Given the description of an element on the screen output the (x, y) to click on. 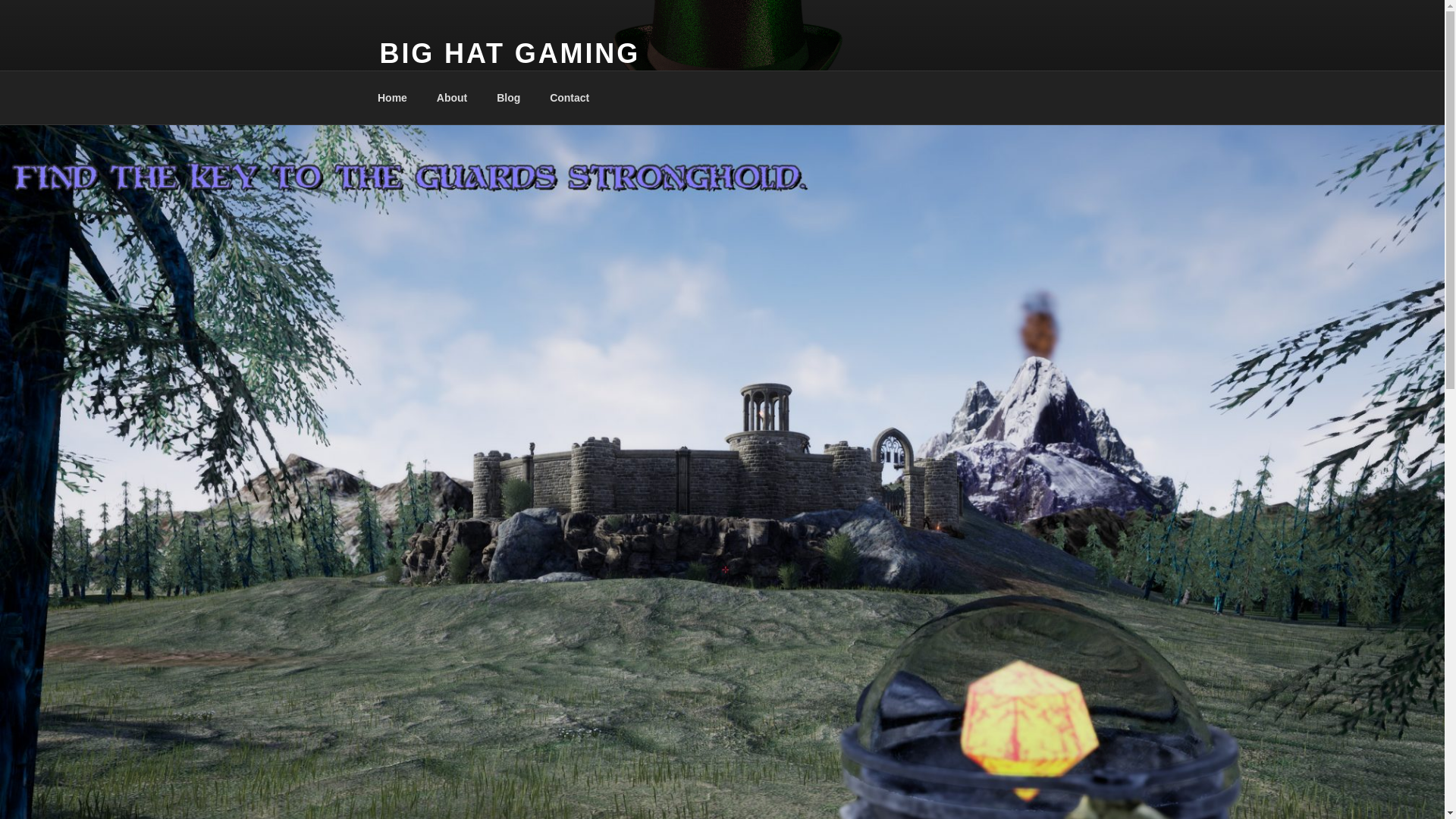
Contact (569, 97)
BIG HAT GAMING (509, 52)
Blog (508, 97)
About (451, 97)
Home (392, 97)
